Given the description of an element on the screen output the (x, y) to click on. 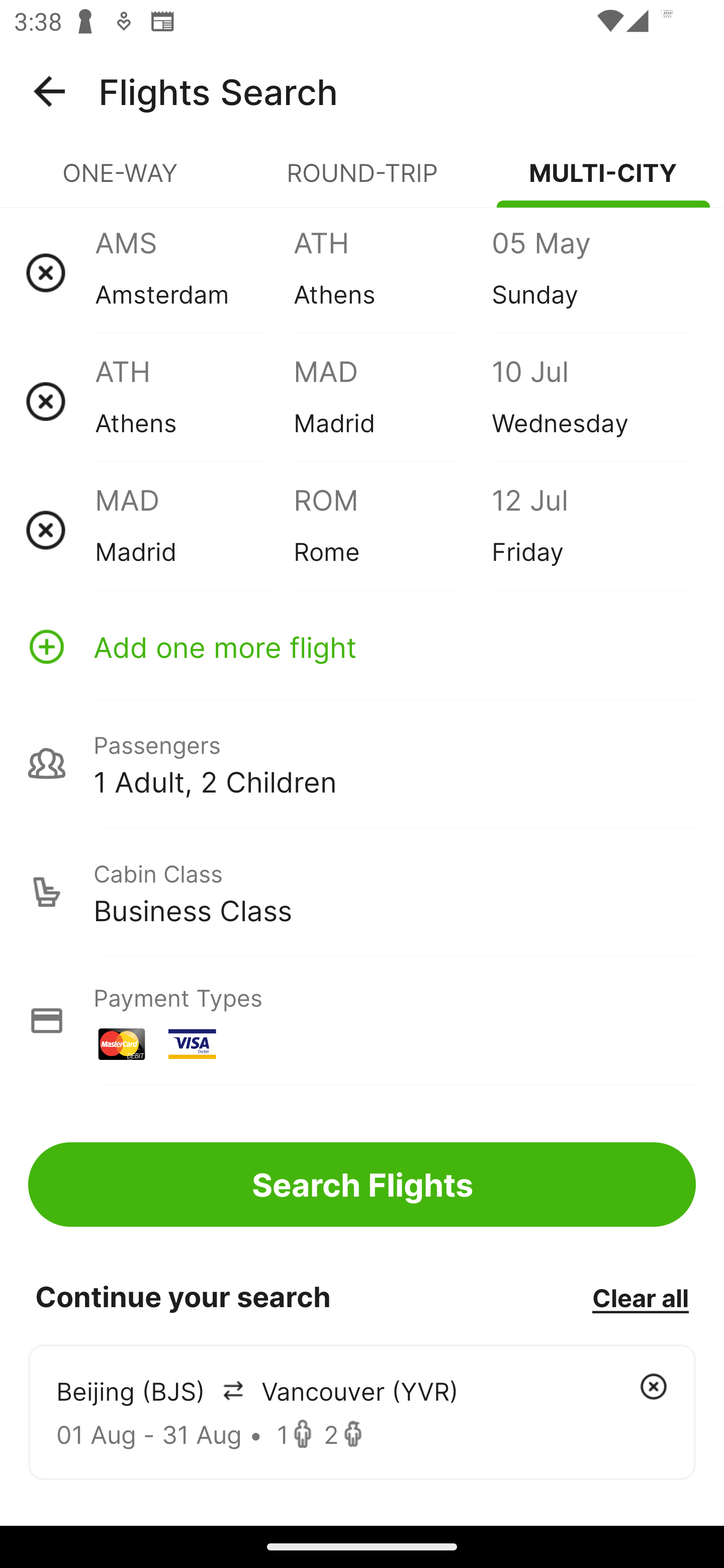
ONE-WAY (120, 180)
ROUND-TRIP (361, 180)
MULTI-CITY (603, 180)
AMS Amsterdam (193, 272)
ATH Athens (392, 272)
05 May Sunday (590, 272)
ATH Athens (193, 401)
MAD Madrid (392, 401)
10 Jul Wednesday (590, 401)
MAD Madrid (193, 529)
ROM Rome (392, 529)
12 Jul Friday (590, 529)
Add one more flight (362, 646)
Passengers 1 Adult, 2 Children (362, 762)
Cabin Class Business Class (362, 891)
Payment Types (362, 1020)
Search Flights (361, 1184)
Clear all (640, 1297)
